Given the description of an element on the screen output the (x, y) to click on. 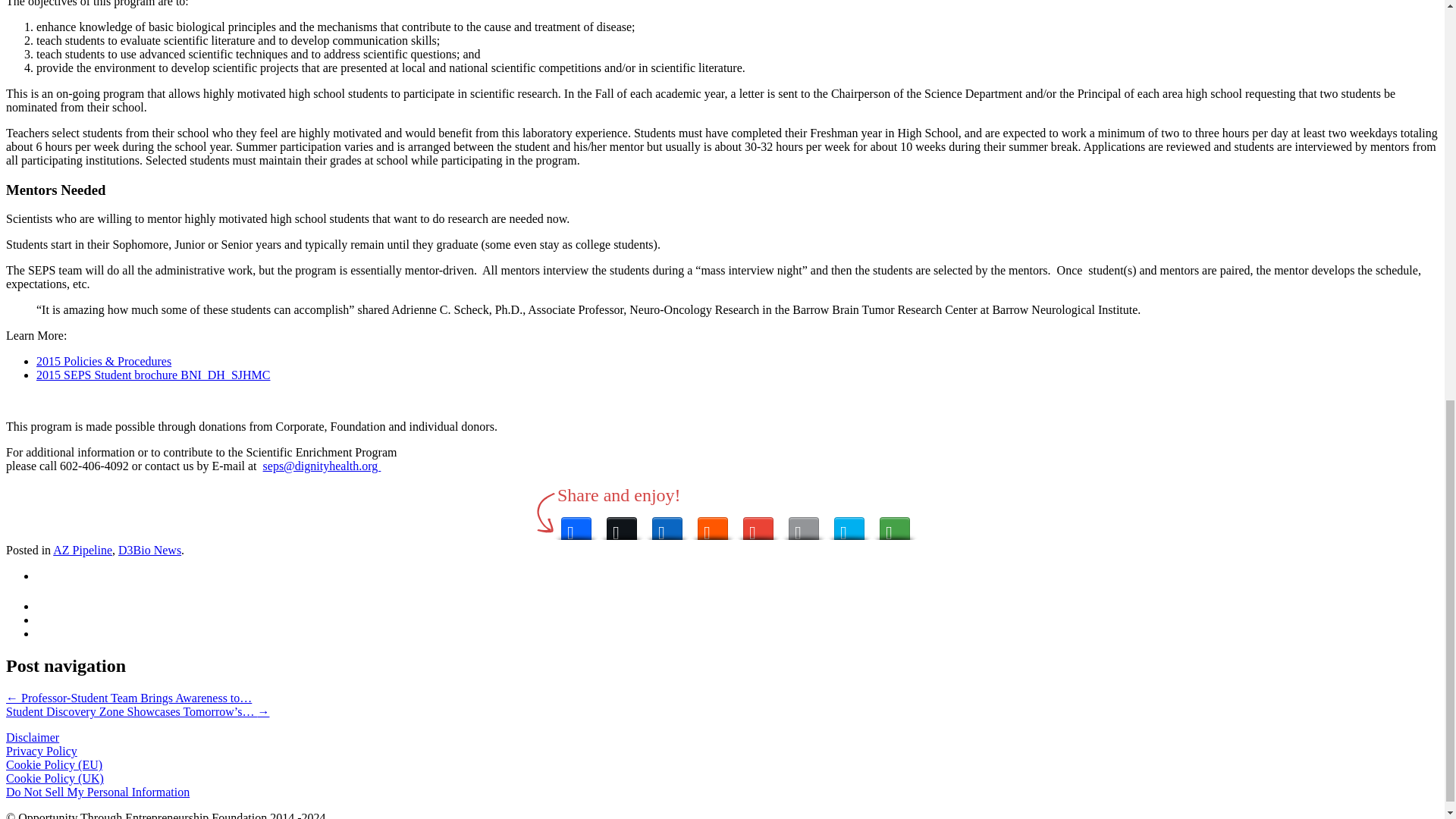
Facebook (575, 524)
Google Gmail (757, 524)
PrintFriendly (849, 524)
Disclaimer (32, 737)
More Options (894, 524)
Email This (803, 524)
D3Bio News (148, 549)
AZ Pipeline (82, 549)
LinkedIn (667, 524)
Reddit (712, 524)
